Given the description of an element on the screen output the (x, y) to click on. 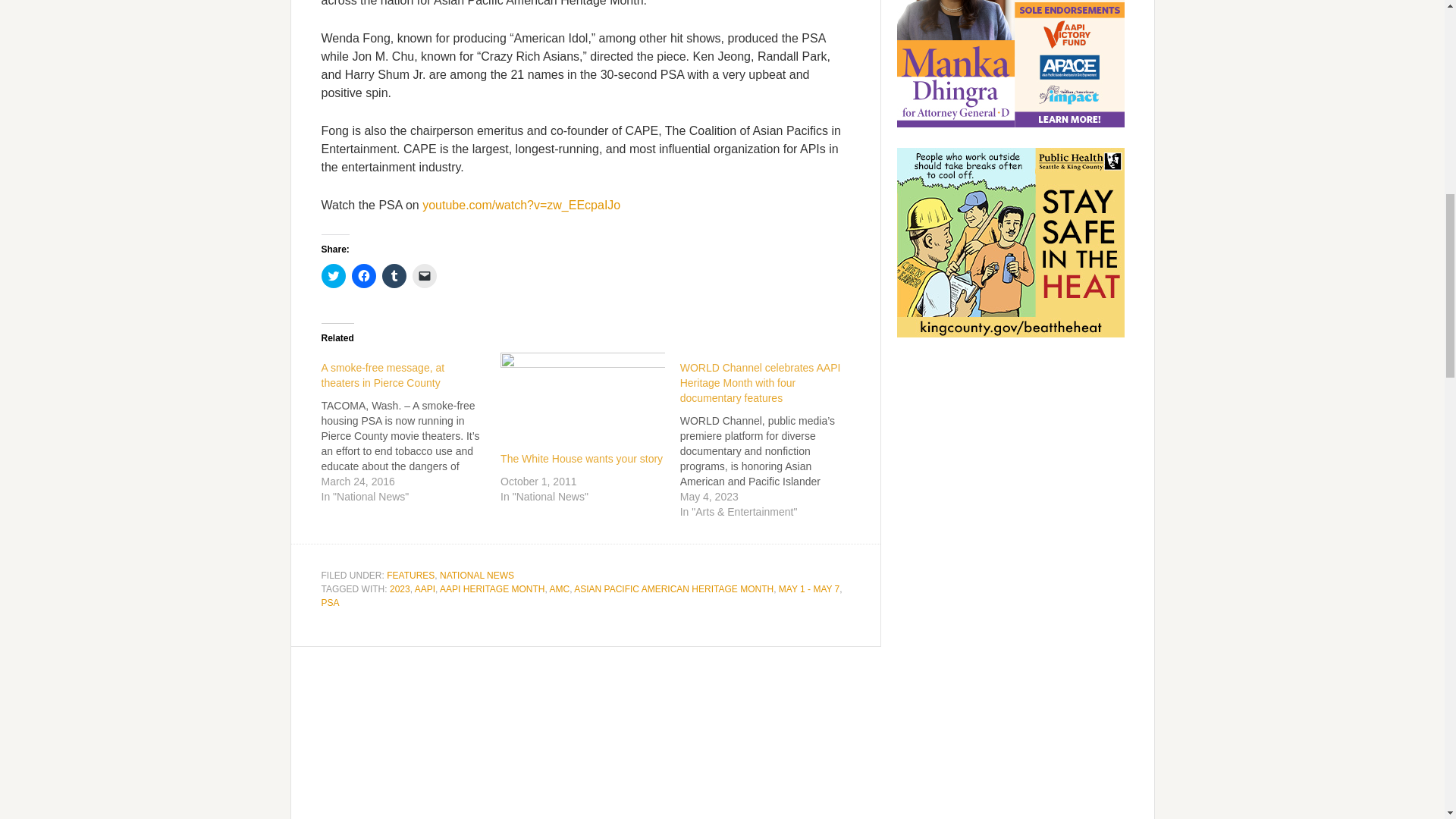
Click to email a link to a friend (424, 275)
Click to share on Tumblr (393, 275)
A smoke-free message, at theaters in Pierce County (383, 375)
The White House wants your story (581, 458)
Click to share on Twitter (333, 275)
A smoke-free message, at theaters in Pierce County (410, 428)
Click to share on Facebook (363, 275)
The White House wants your story (582, 399)
